Given the description of an element on the screen output the (x, y) to click on. 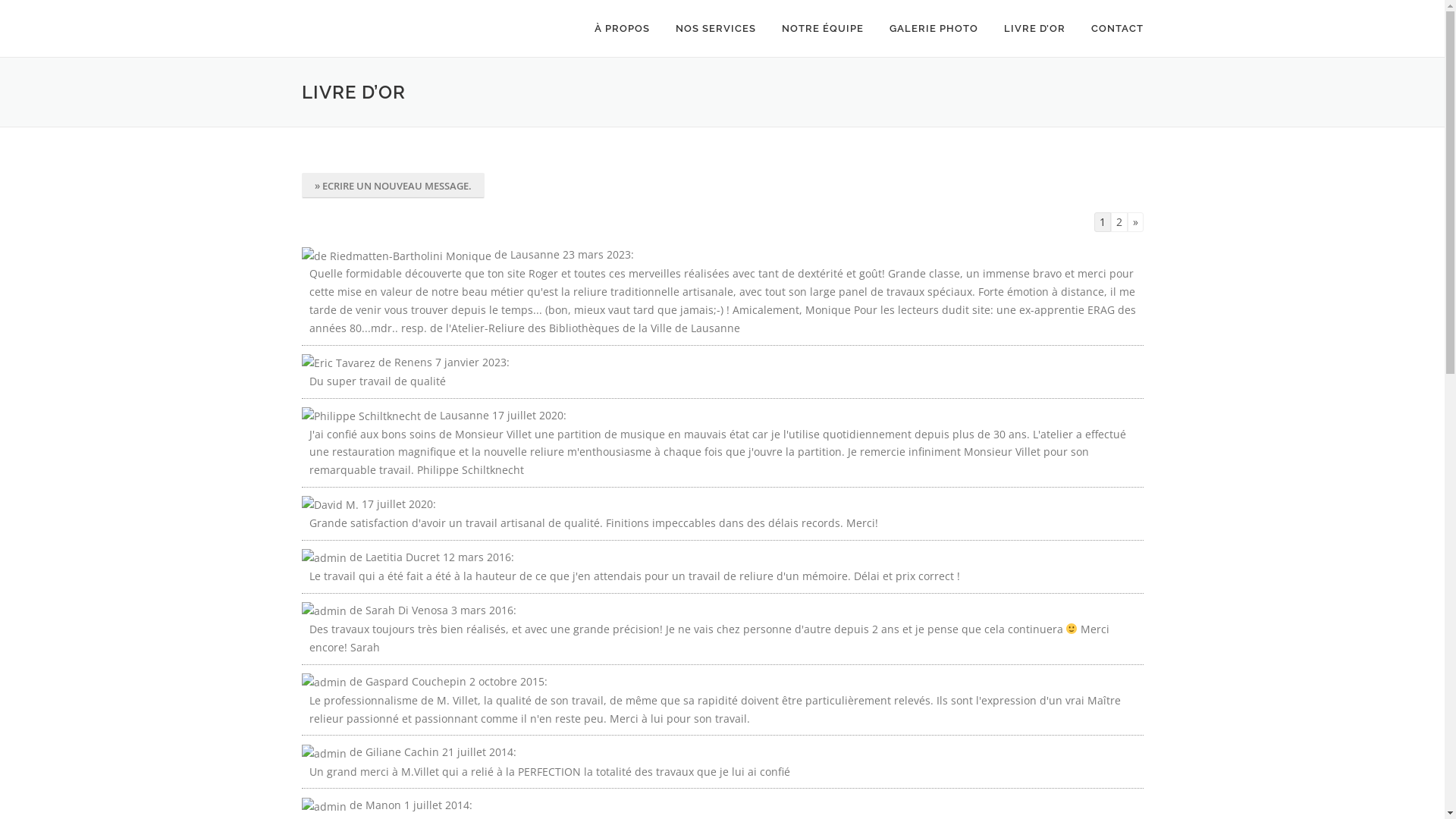
2 Element type: text (1118, 222)
CONTACT Element type: text (1110, 28)
Aller au contenu Element type: text (42, 9)
GALERIE PHOTO Element type: text (933, 28)
NOS SERVICES Element type: text (715, 28)
